Given the description of an element on the screen output the (x, y) to click on. 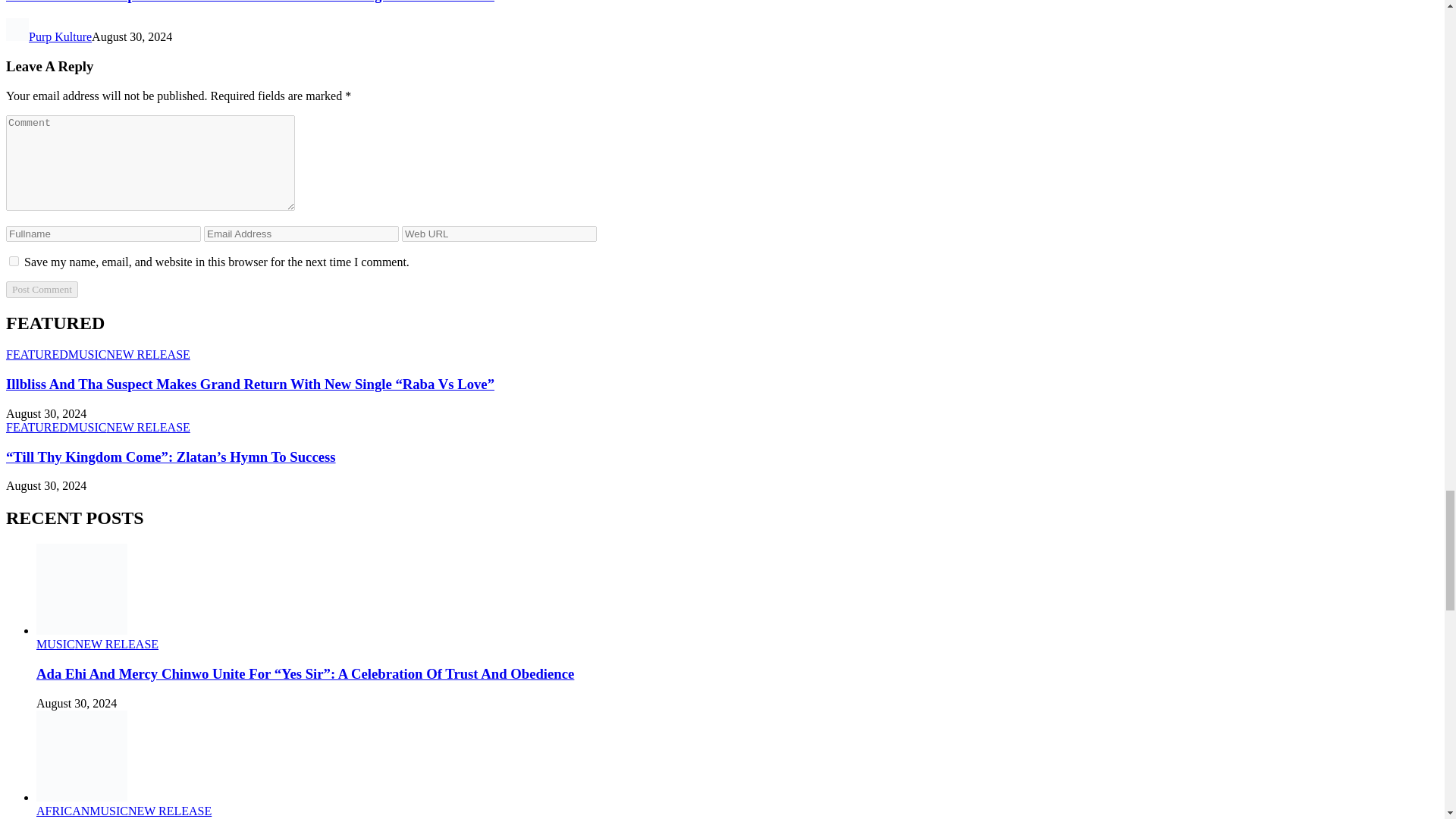
Post Comment (41, 289)
Posts by Purp Kulture (60, 36)
yes (13, 261)
